Given the description of an element on the screen output the (x, y) to click on. 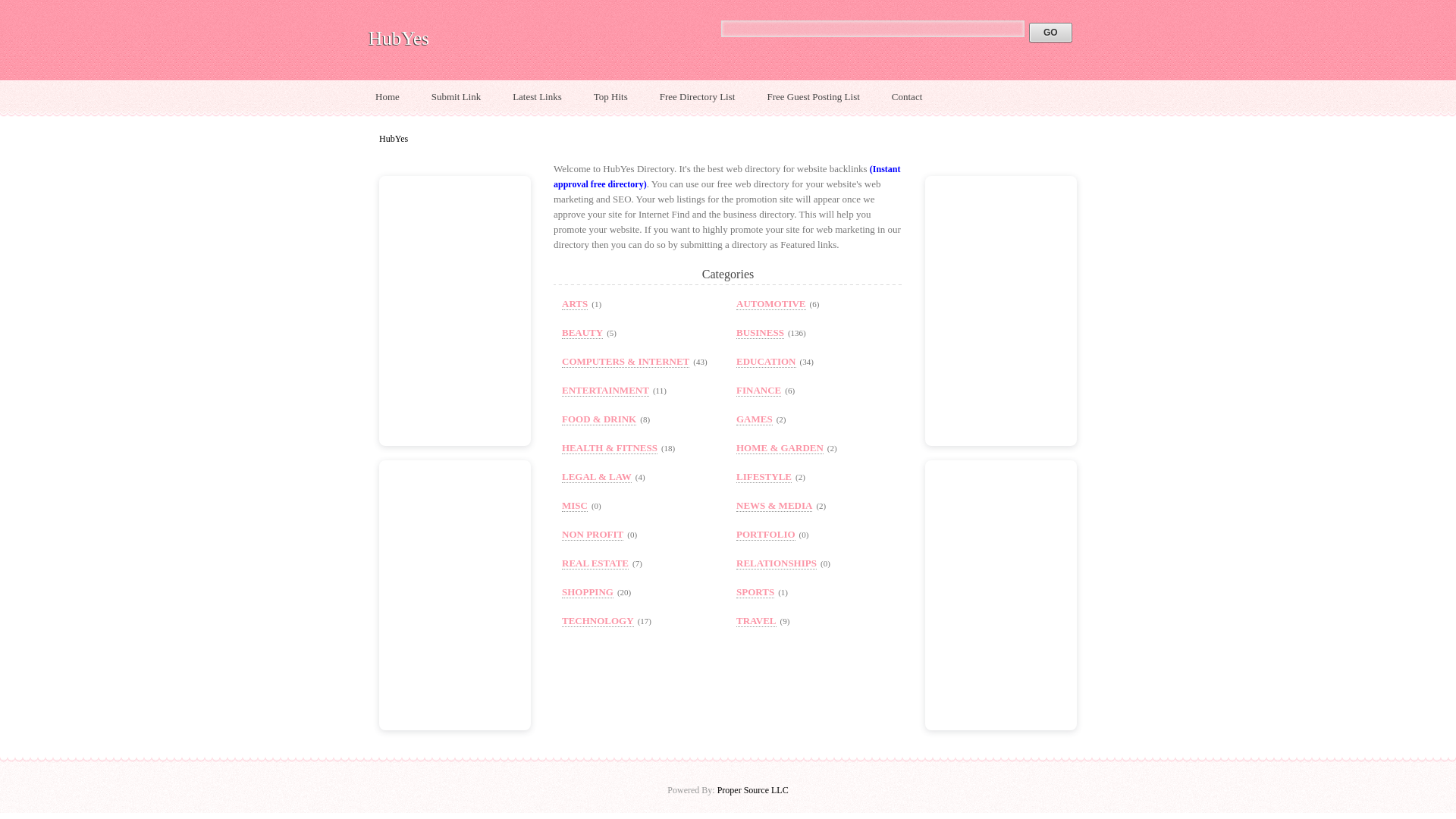
Home (387, 97)
Latest Links (536, 97)
Lifestyle (764, 476)
ENTERTAINMENT (605, 390)
Entertainment (605, 390)
SHOPPING (587, 592)
HubYes (398, 37)
Free Directory List (696, 97)
Misc (575, 505)
Business (760, 332)
GAMES (754, 419)
AUTOMOTIVE (771, 304)
Submit Link (456, 97)
BEAUTY (582, 332)
PORTFOLIO (765, 534)
